Given the description of an element on the screen output the (x, y) to click on. 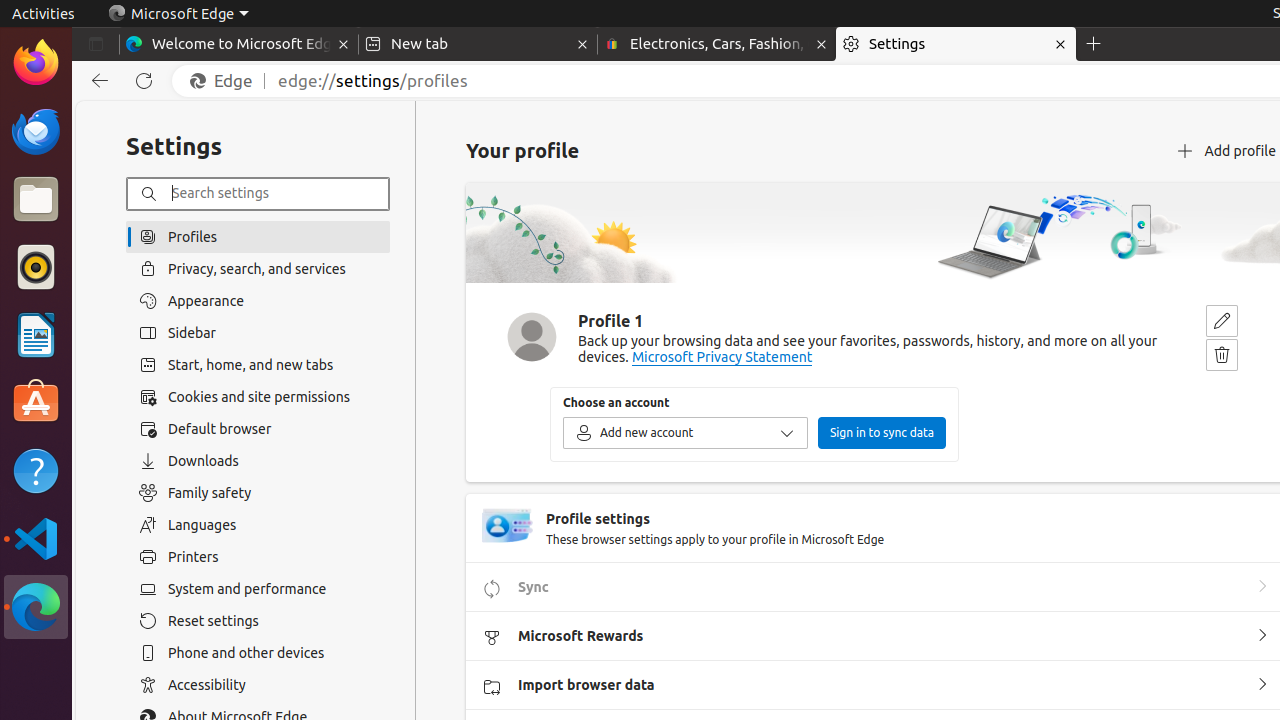
Microsoft Edge Element type: menu (178, 13)
Edit Element type: push-button (1222, 321)
Close tab Element type: push-button (343, 44)
Electronics, Cars, Fashion, Collectibles & More | eBay Element type: page-tab (717, 44)
Languages Element type: tree-item (258, 525)
